Given the description of an element on the screen output the (x, y) to click on. 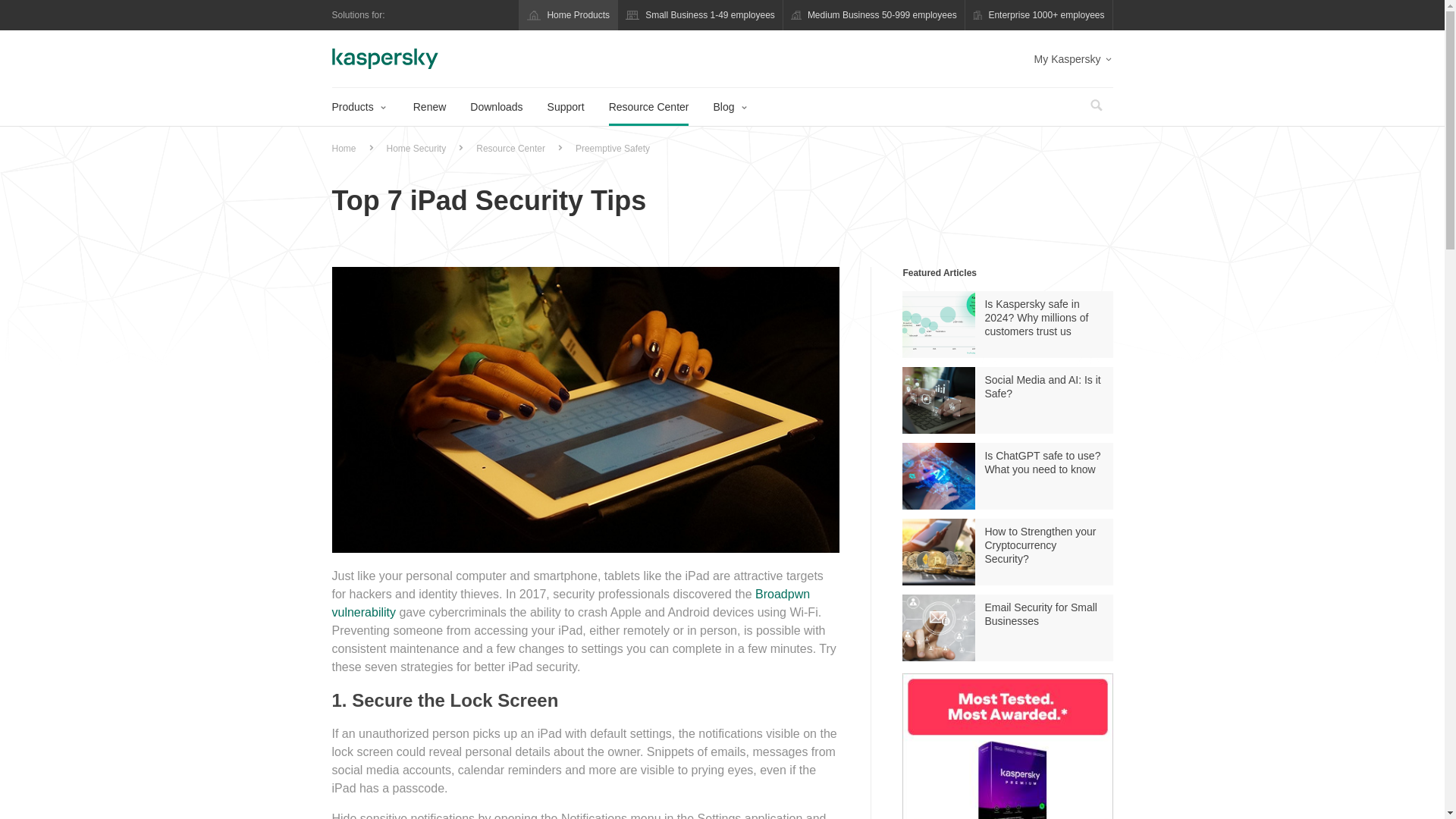
Downloads (496, 106)
Products (358, 106)
Home Products (568, 15)
Medium Business 50-999 employees (874, 15)
Support (566, 106)
Resource Center (648, 106)
Small Business 1-49 employees (700, 15)
Kaspersky logo (384, 58)
My Kaspersky (1073, 58)
